Given the description of an element on the screen output the (x, y) to click on. 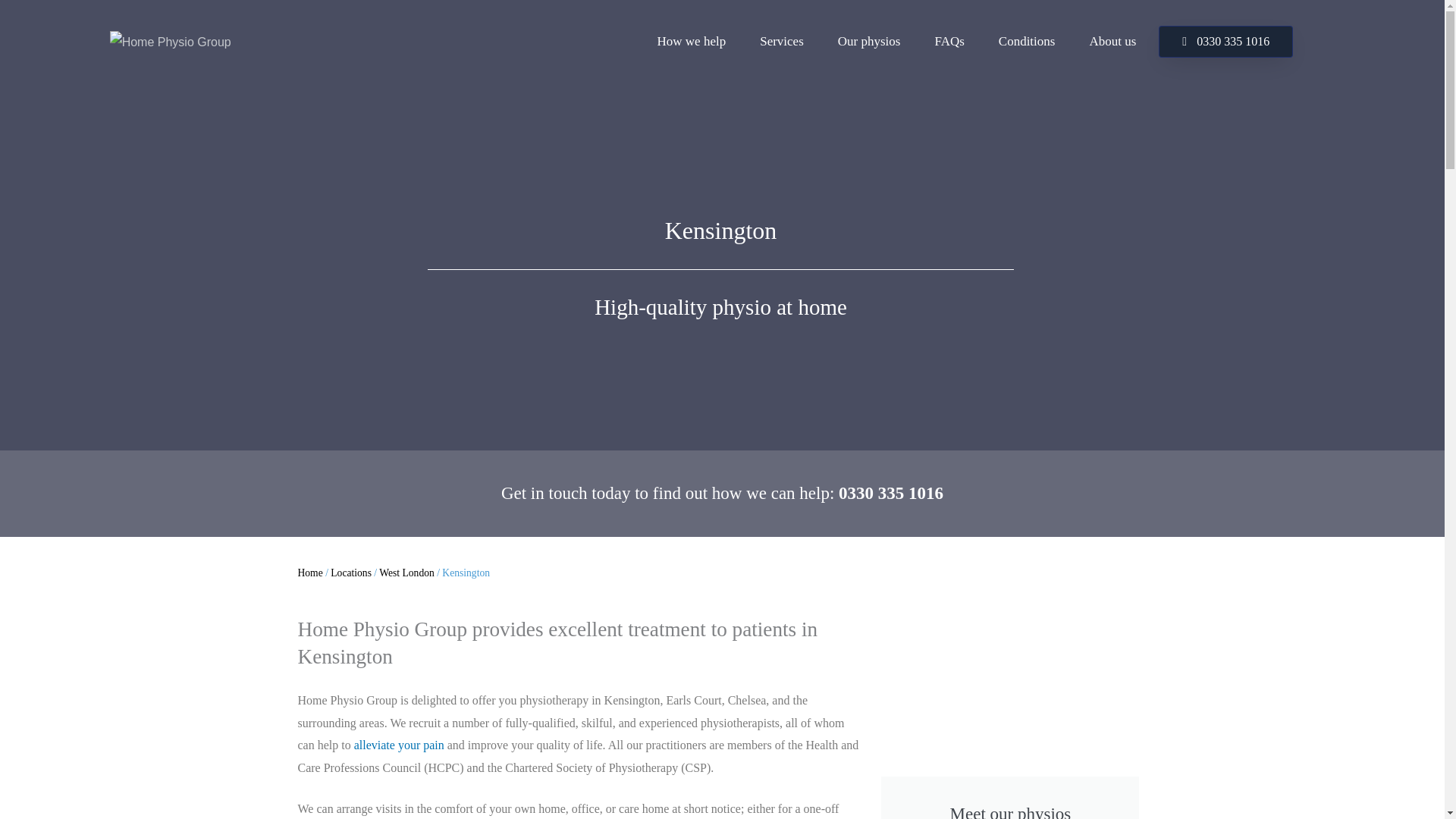
Home (309, 572)
0330 335 1016 (1225, 41)
West London (405, 572)
How we help (692, 41)
About us (1112, 41)
alleviate your pain (398, 744)
Conditions (1026, 41)
HPG-Logo (170, 42)
0330 335 1016 (890, 493)
Locations (350, 572)
Our physios (869, 41)
Services (781, 41)
FAQs (948, 41)
